Given the description of an element on the screen output the (x, y) to click on. 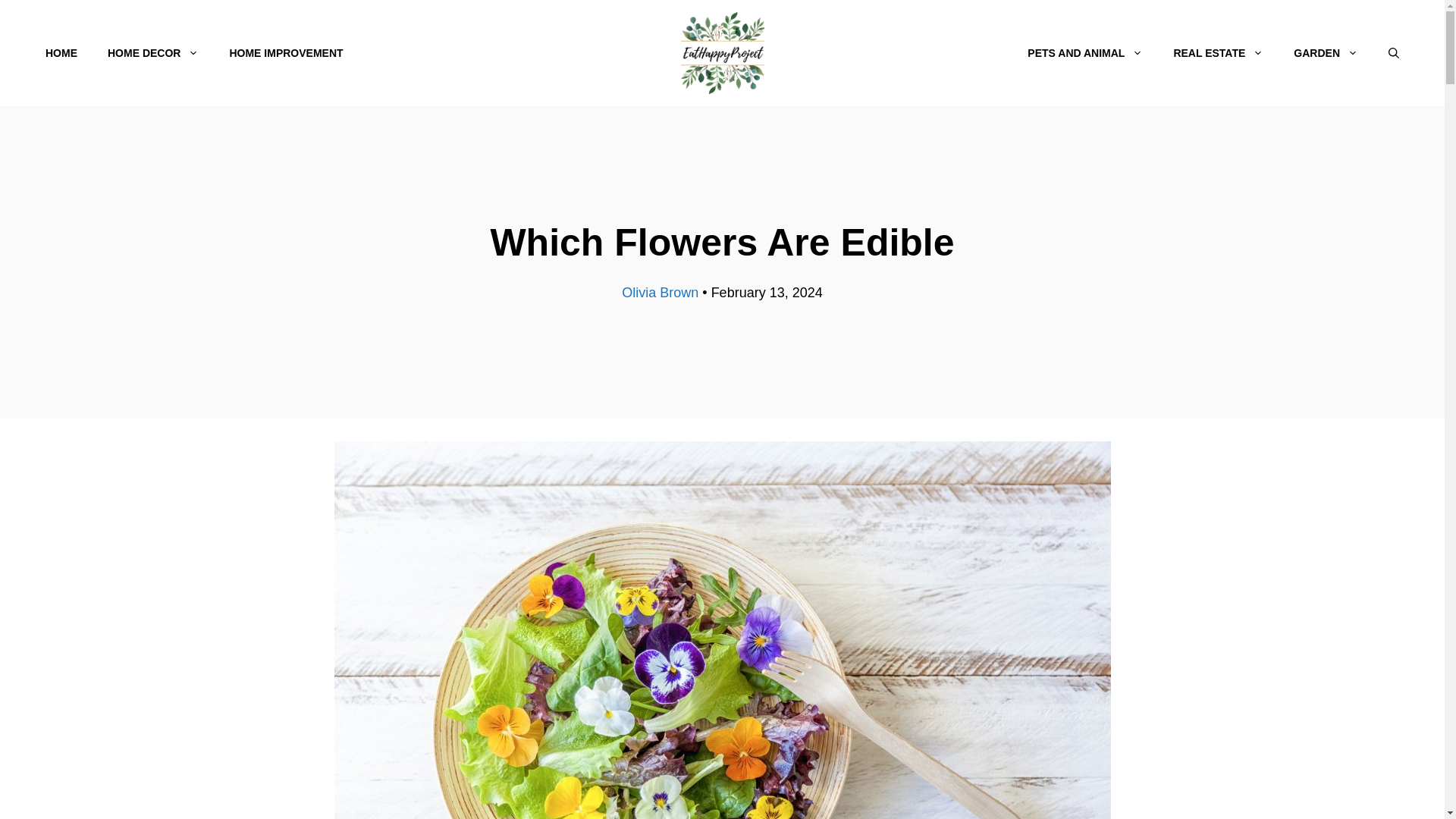
PETS AND ANIMAL (1084, 53)
HOME DECOR (153, 53)
HOME IMPROVEMENT (286, 53)
MENU ITEM SEPARATOR (685, 53)
HOME (61, 53)
REAL ESTATE (1217, 53)
GARDEN (1325, 53)
View all posts by Olivia Brown (659, 292)
